Given the description of an element on the screen output the (x, y) to click on. 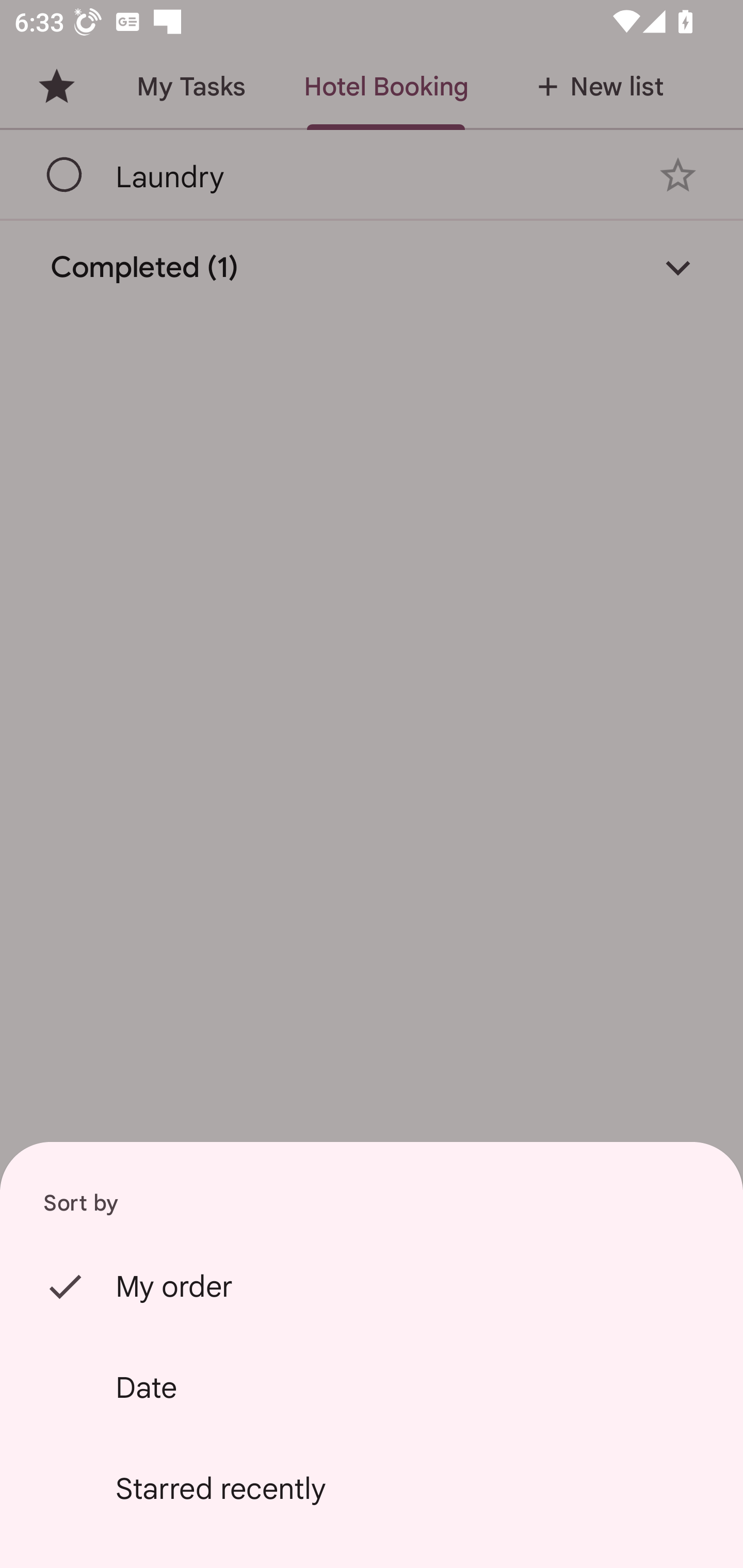
My order (371, 1286)
Date (371, 1387)
Starred recently (371, 1488)
